Given the description of an element on the screen output the (x, y) to click on. 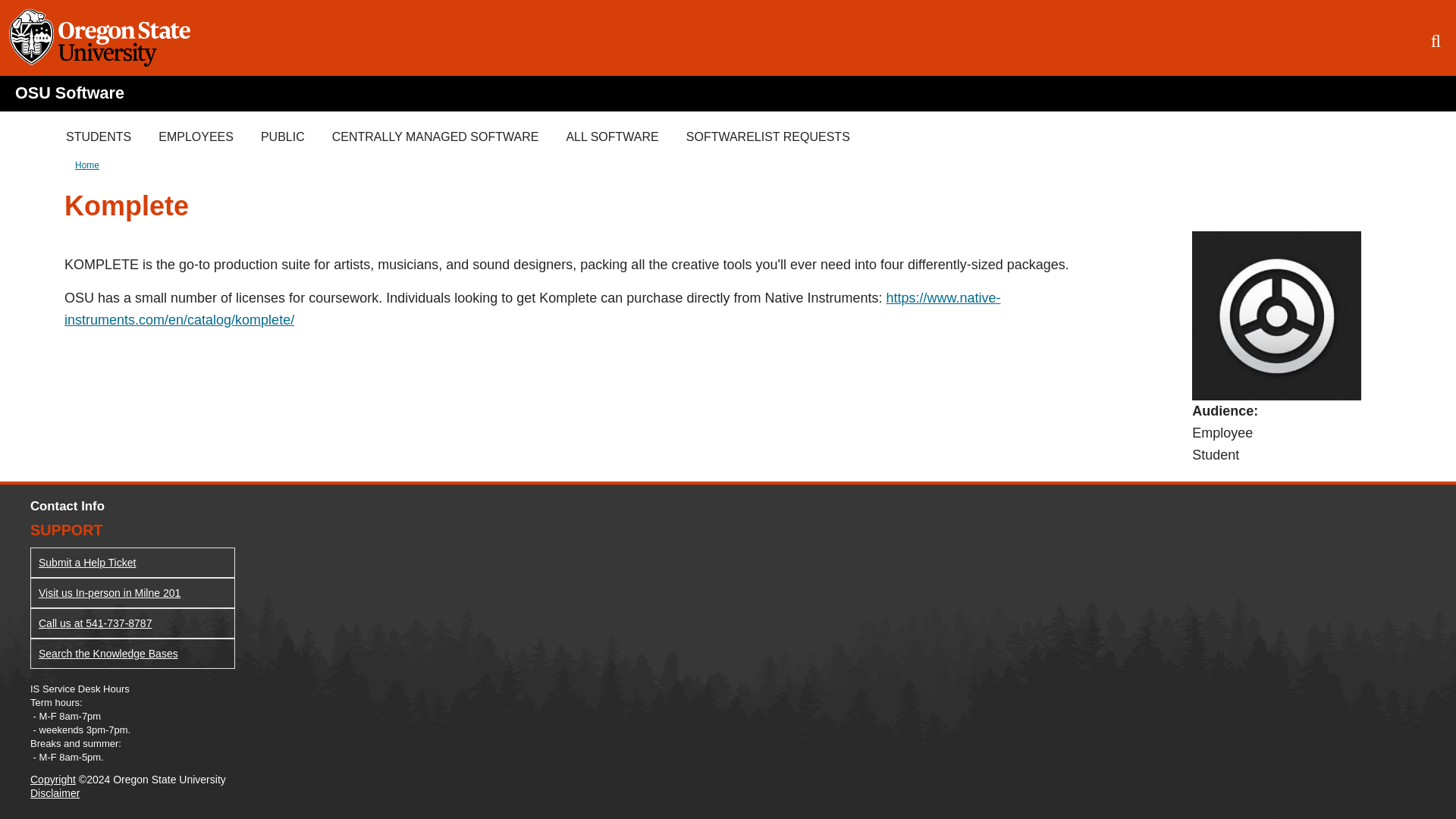
OSU Software (68, 92)
PUBLIC (282, 136)
CENTRALLY MANAGED SOFTWARE (435, 136)
STUDENTS (97, 136)
EMPLOYEES (196, 136)
